Given the description of an element on the screen output the (x, y) to click on. 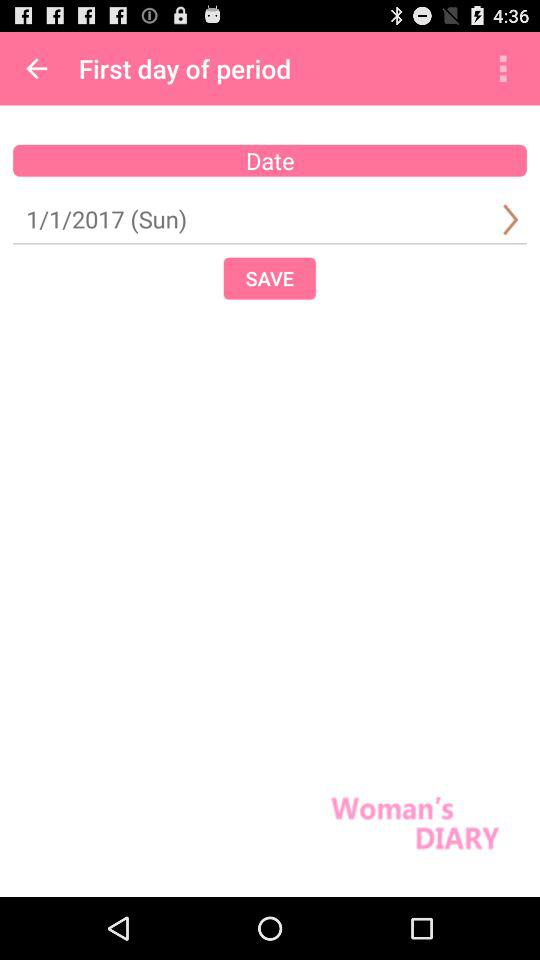
select save (269, 278)
